Given the description of an element on the screen output the (x, y) to click on. 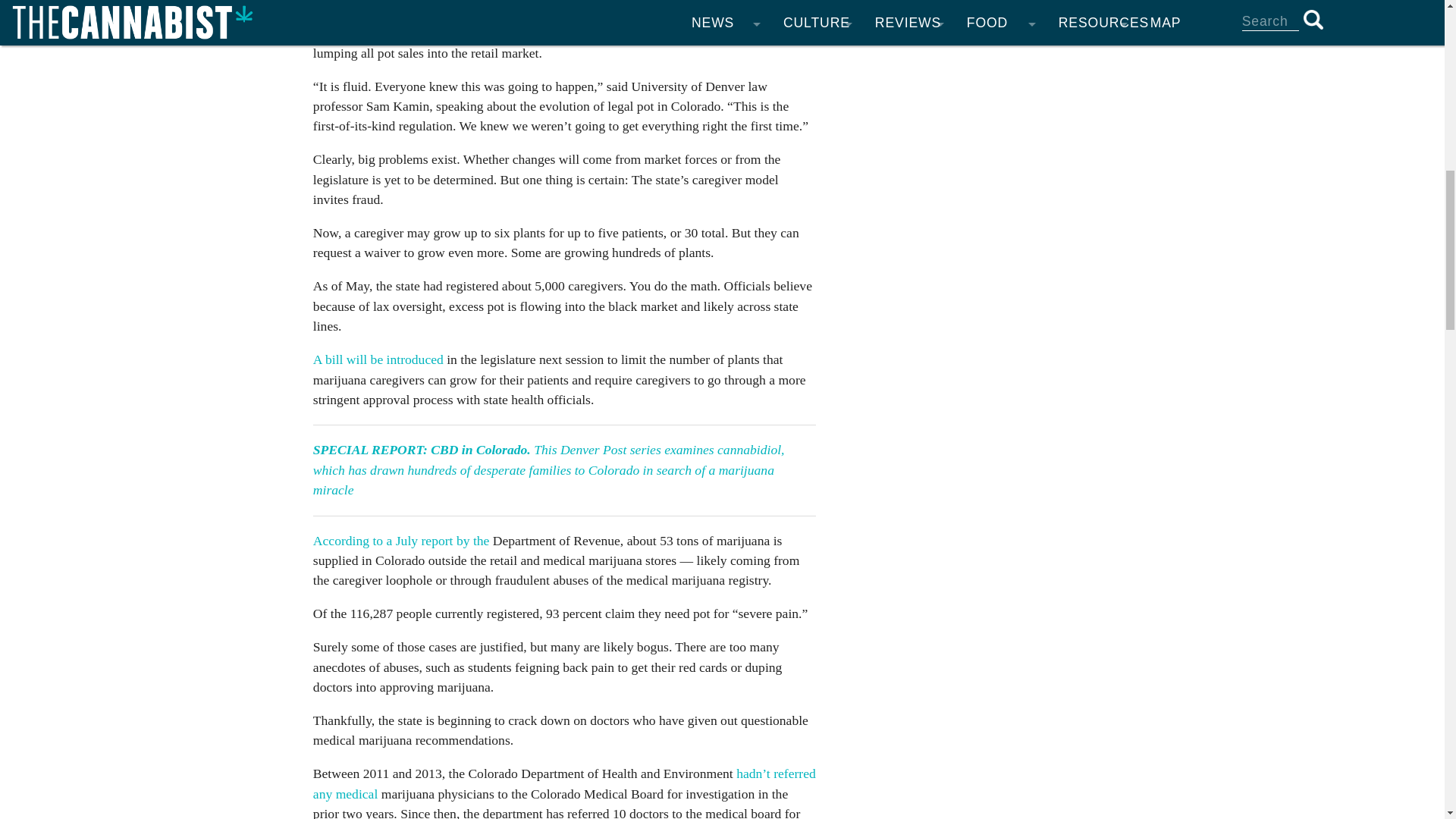
Denver Post story on the July report  (403, 540)
AP story on the legislation  (379, 359)
Denver Post story on the medical doctors  (564, 782)
